Given the description of an element on the screen output the (x, y) to click on. 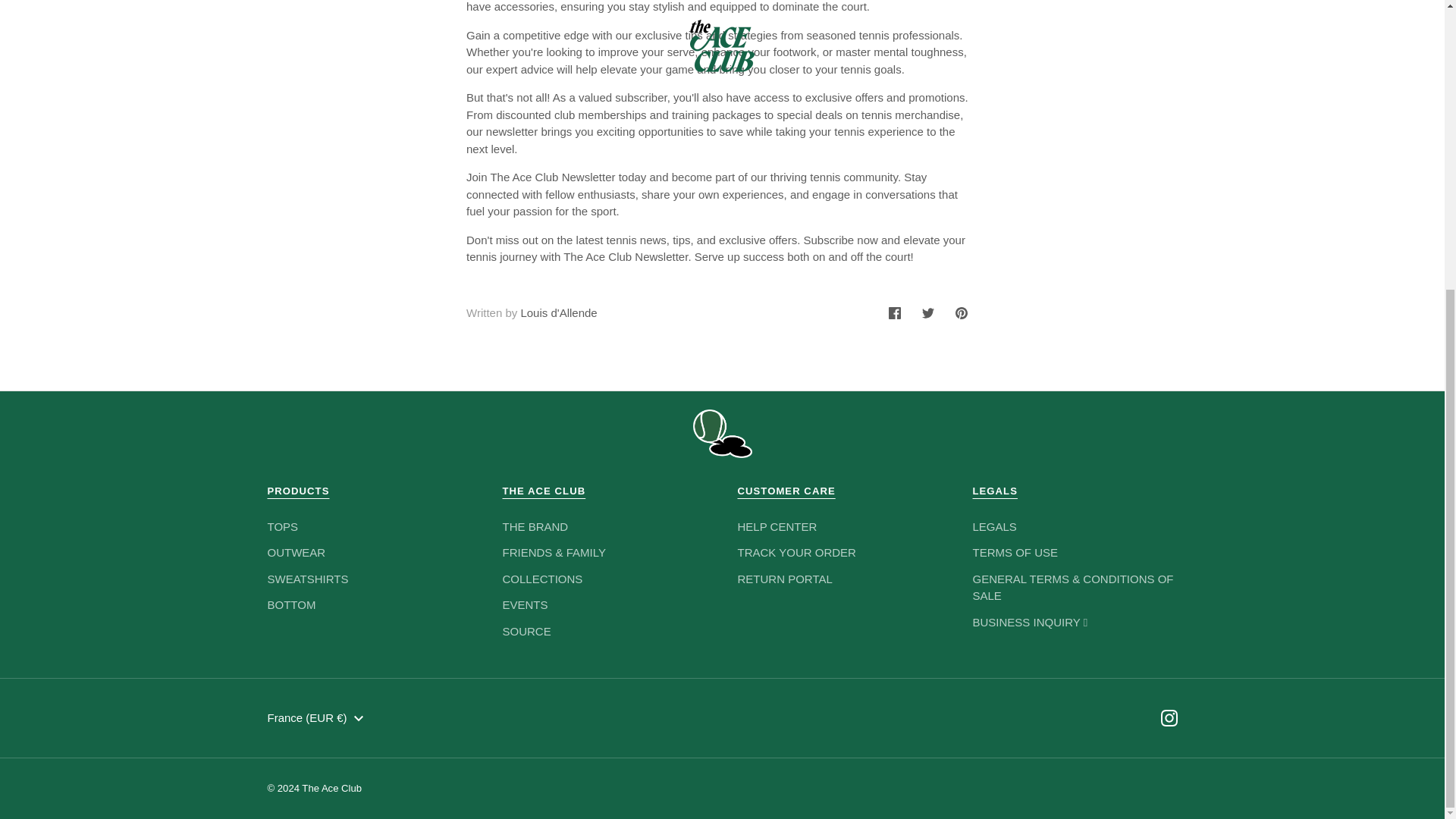
Share on Twitter (927, 313)
Down (358, 719)
SWEATSHIRTS (306, 578)
Share on Facebook (894, 313)
BOTTOM (290, 604)
THE BRAND (534, 526)
TOPS (282, 526)
Pin it (961, 313)
OUTWEAR (295, 552)
